Given the description of an element on the screen output the (x, y) to click on. 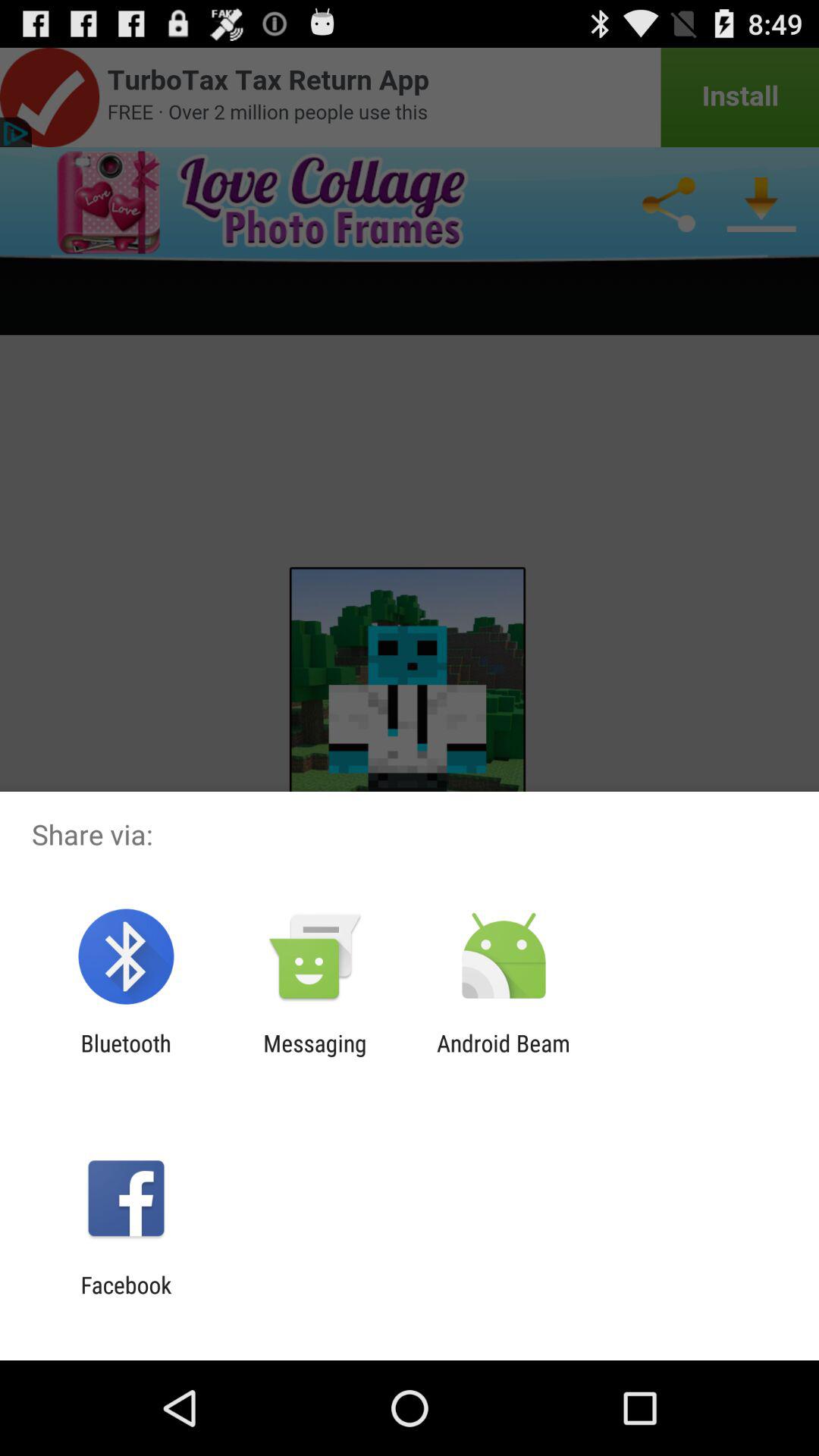
press the android beam (503, 1056)
